Given the description of an element on the screen output the (x, y) to click on. 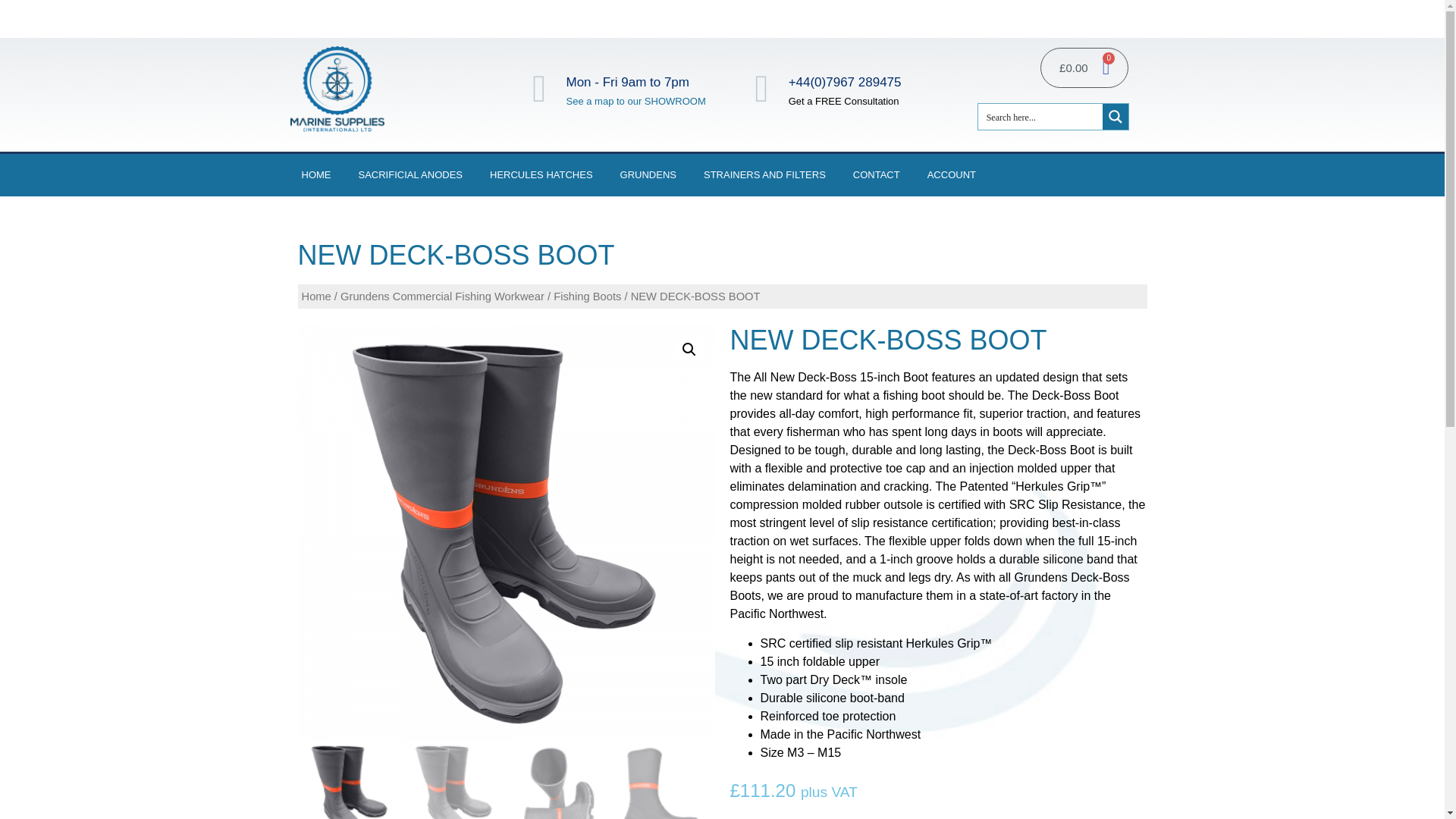
Grundens Commercial Fishing Workwear (442, 296)
See a map to our SHOWROOM (635, 101)
SACRIFICIAL ANODES (410, 174)
STRAINERS AND FILTERS (765, 174)
HERCULES HATCHES (541, 174)
GRUNDENS (647, 174)
Fishing Boots (587, 296)
Home (316, 296)
HOME (315, 174)
ACCOUNT (951, 174)
CONTACT (876, 174)
